Given the description of an element on the screen output the (x, y) to click on. 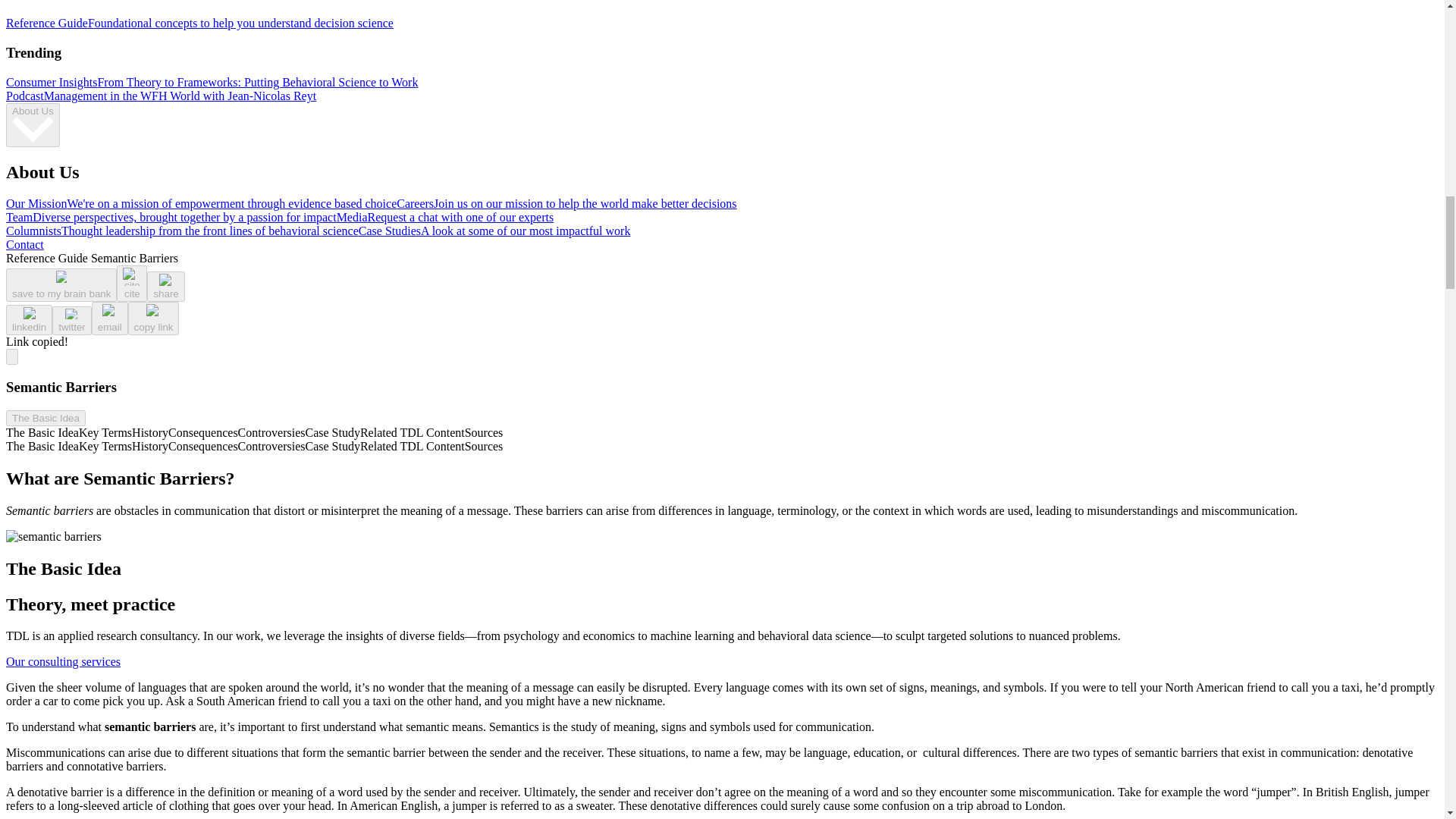
The Basic Idea (45, 417)
